Given the description of an element on the screen output the (x, y) to click on. 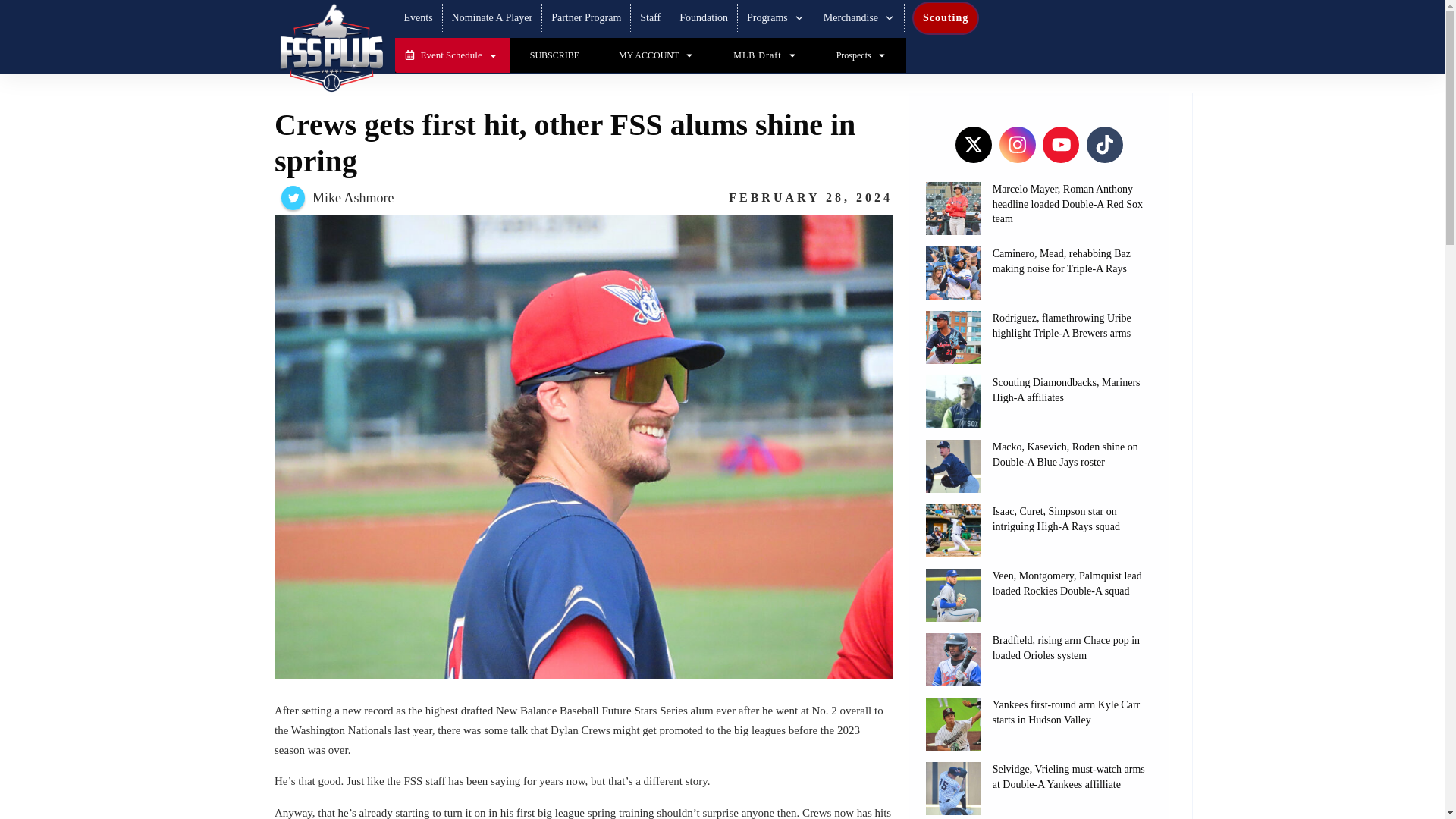
Staff (650, 17)
Foundation (703, 17)
Macko, Kasevich, Roden shine on Double-A Blue Jays roster (1065, 454)
Scouting Diamondbacks, Mariners High-A affiliates (1066, 389)
Programs (775, 17)
Yankees first-round arm Kyle Carr starts in Hudson Valley (1066, 712)
MLB Draft (764, 55)
Events (417, 17)
Isaac, Curet, Simpson star on intriguing High-A Rays squad (1055, 519)
FSS Plus (331, 47)
Bradfield, rising arm Chace pop in loaded Orioles system (1066, 647)
SUBSCRIBE (554, 55)
